Given the description of an element on the screen output the (x, y) to click on. 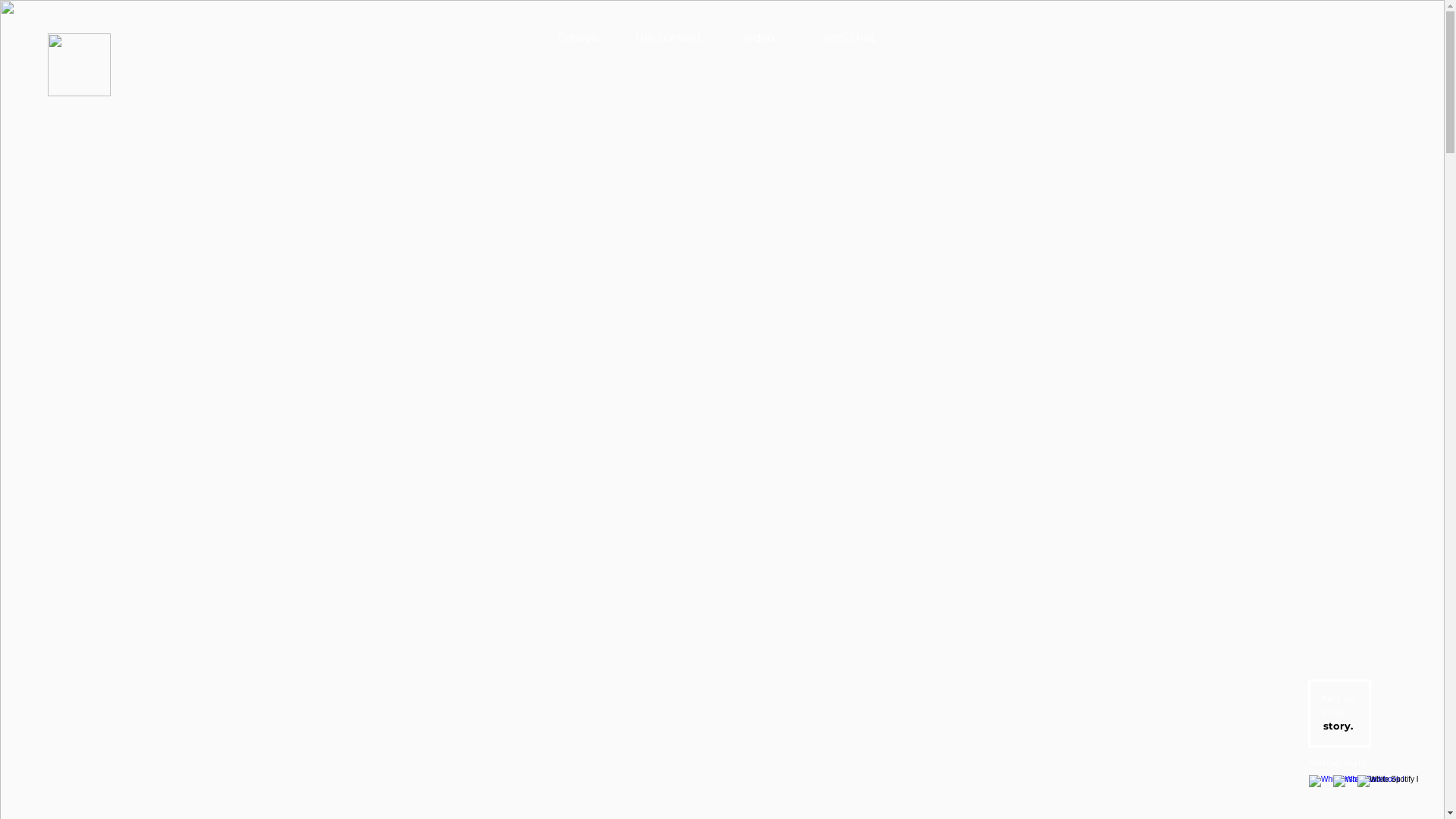
fisheye. Element type: text (577, 37)
story. Element type: text (1337, 725)
let's chat. Element type: text (850, 37)
the content. Element type: text (668, 37)
